Given the description of an element on the screen output the (x, y) to click on. 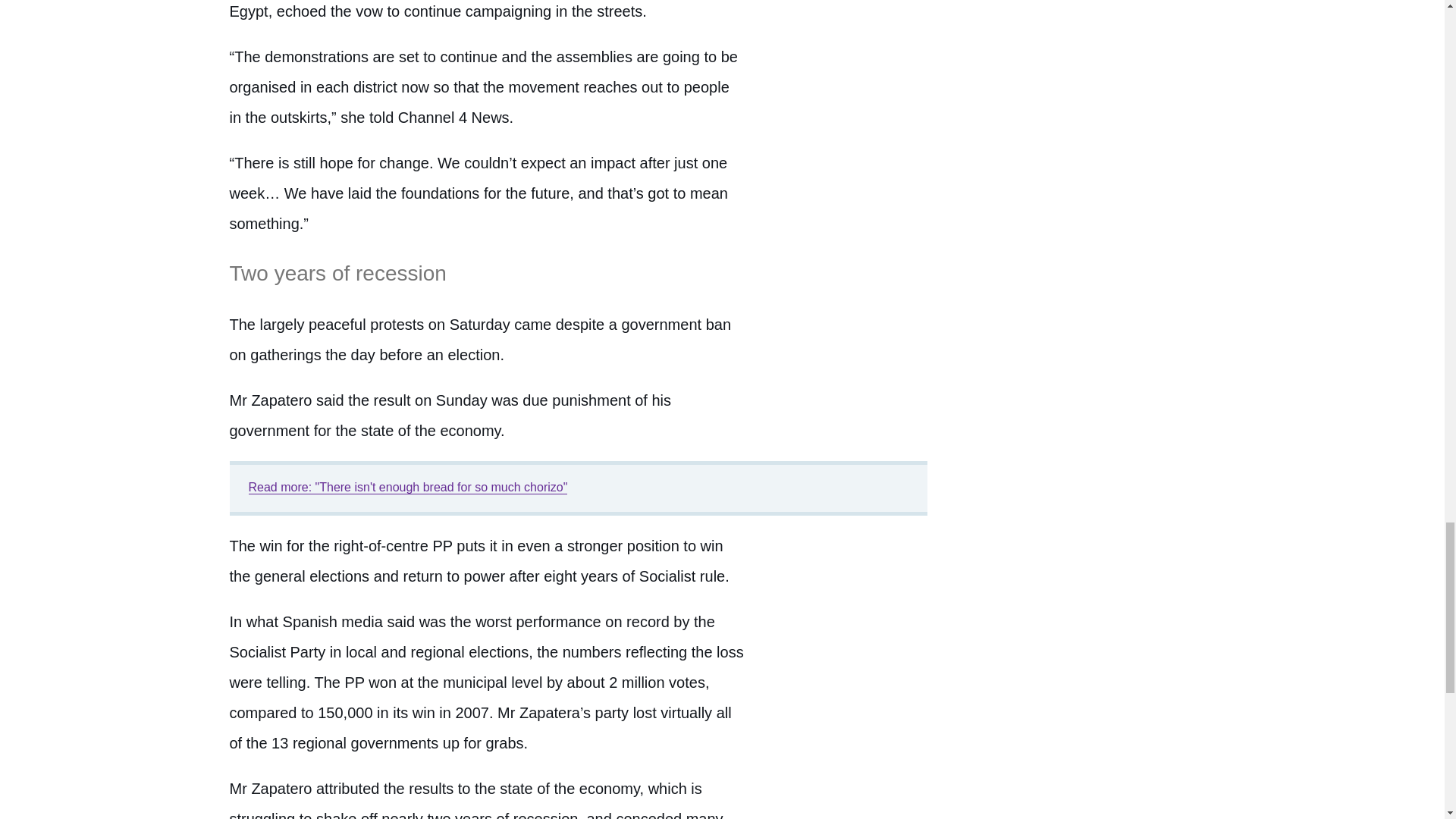
Read more: "There isn't enough bread for so much chorizo" (407, 487)
